Given the description of an element on the screen output the (x, y) to click on. 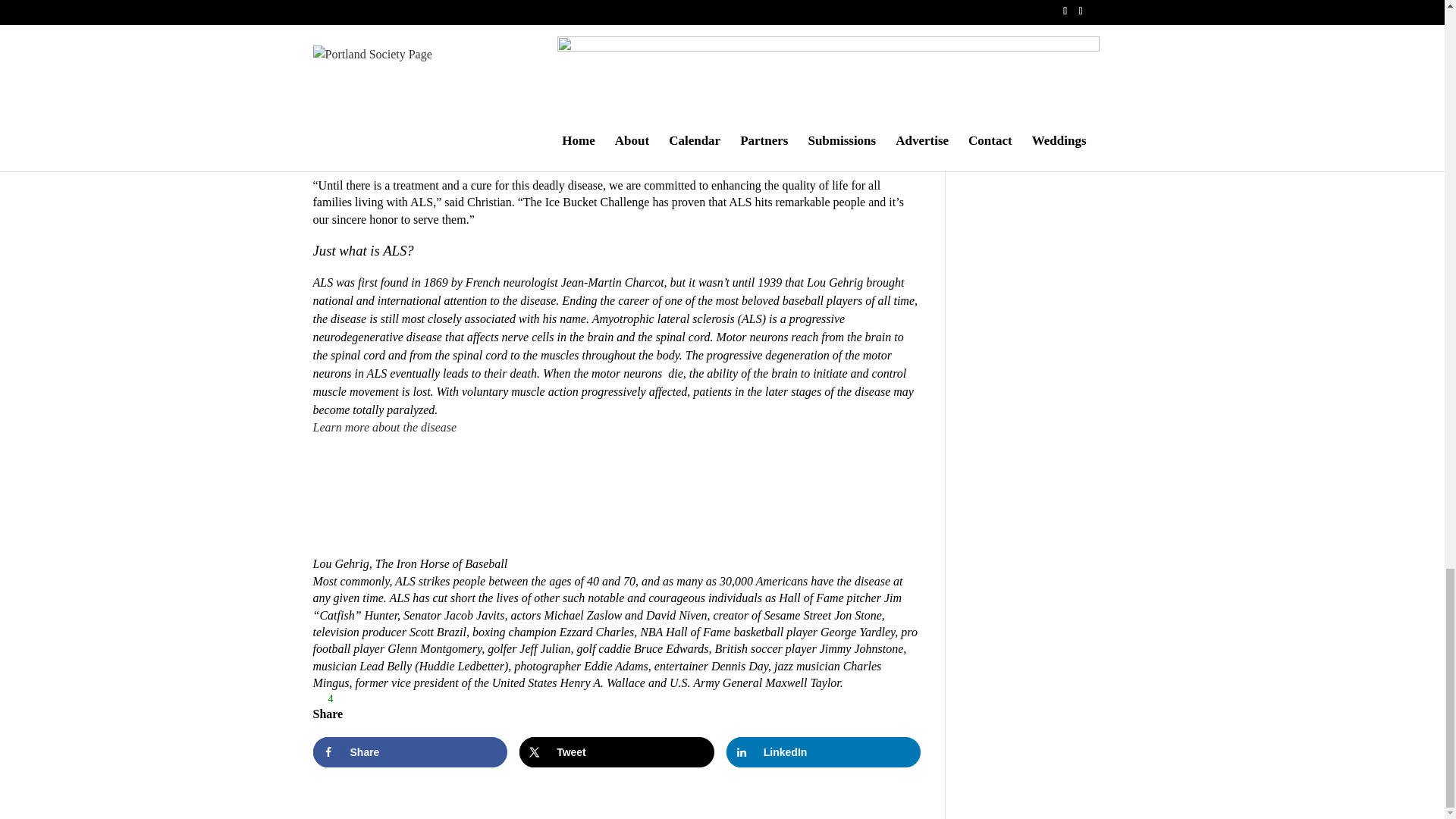
LinkedIn (823, 752)
Share on X (616, 752)
Share (409, 752)
Learn more about the disease (385, 427)
Share on LinkedIn (823, 752)
Share on Facebook (409, 752)
Tweet (616, 752)
